Given the description of an element on the screen output the (x, y) to click on. 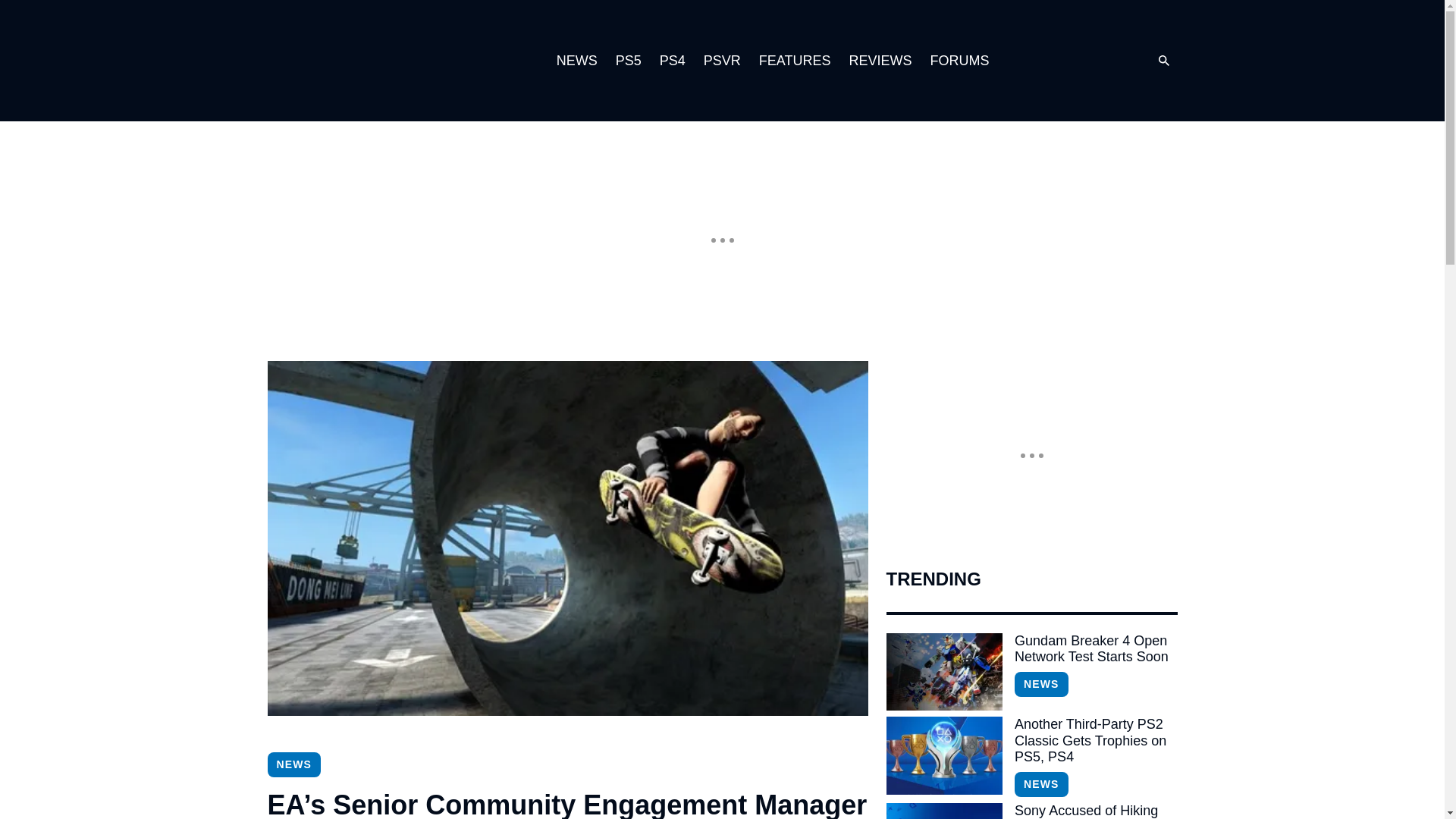
NEWS (577, 60)
PS4 (672, 60)
Instagram (1048, 60)
Twitter (1079, 60)
FEATURES (794, 60)
REVIEWS (880, 60)
Gundam Breaker 4 Open Network Test Starts Soon (944, 671)
PS5 (628, 60)
Gundam Breaker 4 Open Network Test Starts Soon (1095, 649)
Another Third-Party PS2 Classic Gets Trophies on PS5, PS4 (1095, 740)
NEWS (1040, 683)
Gundam Breaker 4 Open Network Test Starts Soon (1095, 649)
FORUMS (958, 60)
Another Third-Party PS2 Classic Gets Trophies on PS5, PS4 (944, 754)
NEWS (1040, 784)
